Given the description of an element on the screen output the (x, y) to click on. 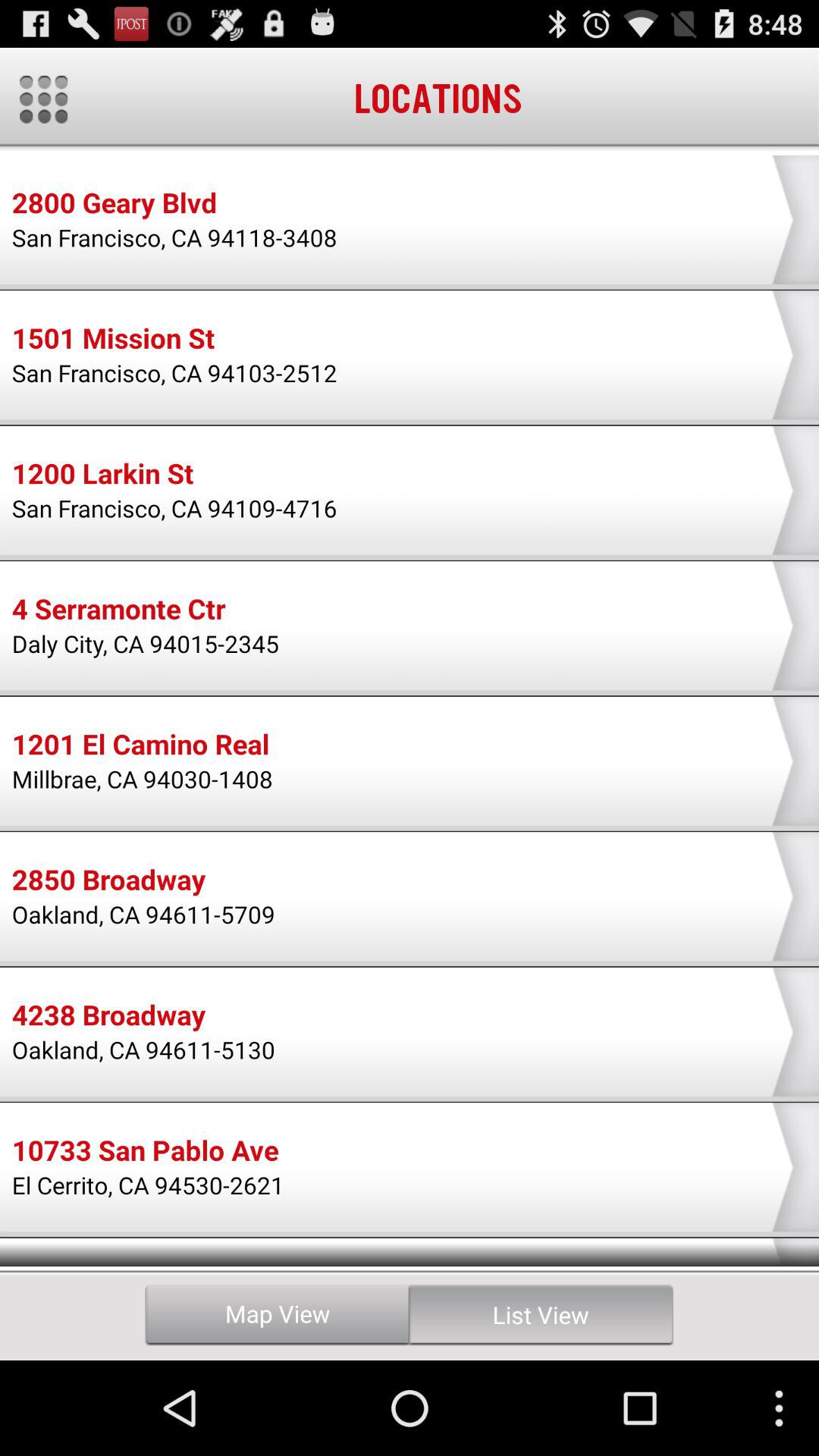
press the app to the left of the locations item (43, 99)
